Given the description of an element on the screen output the (x, y) to click on. 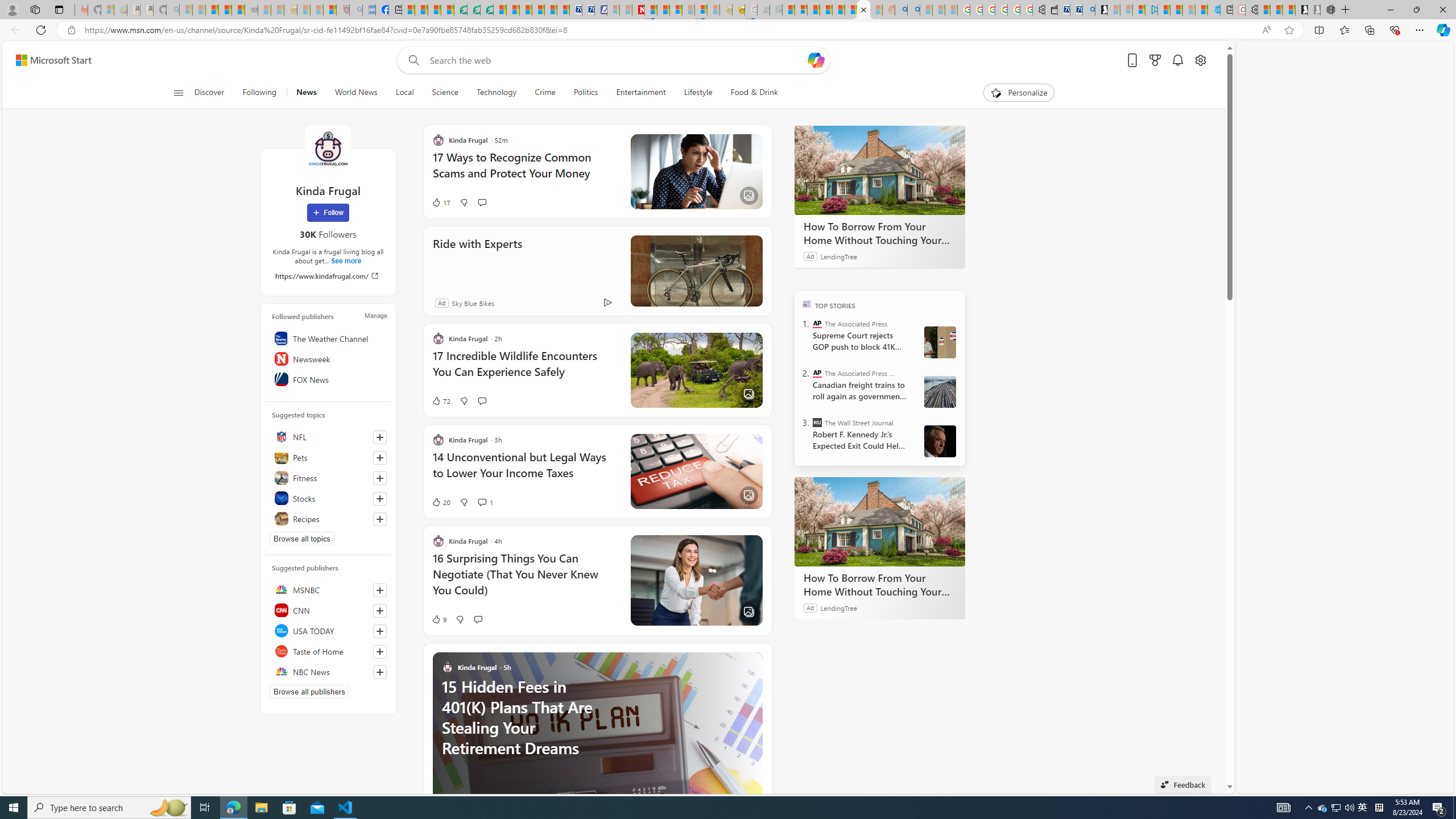
Follow this source (379, 671)
Sky Blue Bikes (472, 302)
How To Borrow From Your Home Without Touching Your Mortgage (879, 521)
72 Like (440, 400)
17 Ways to Recognize Common Scams and Protect Your Money (524, 171)
Skip to content (49, 59)
Open Copilot (816, 59)
Ad (440, 302)
TOP (806, 302)
